Given the description of an element on the screen output the (x, y) to click on. 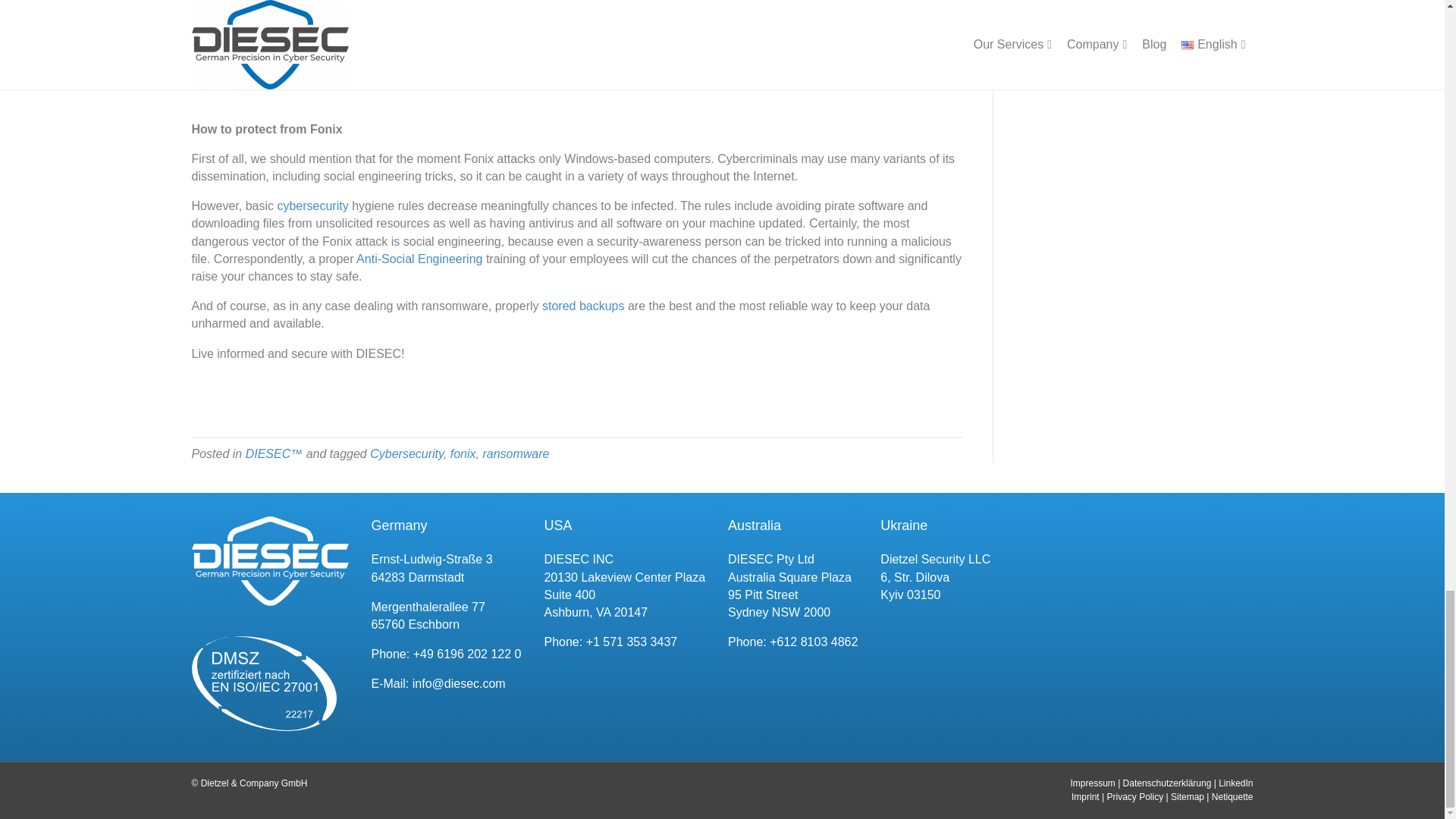
fonix (462, 453)
Anti-Social Engineering (418, 258)
Cybersecurity (406, 453)
ransomware (514, 453)
cybersecurity (311, 205)
stored backups (582, 305)
